Given the description of an element on the screen output the (x, y) to click on. 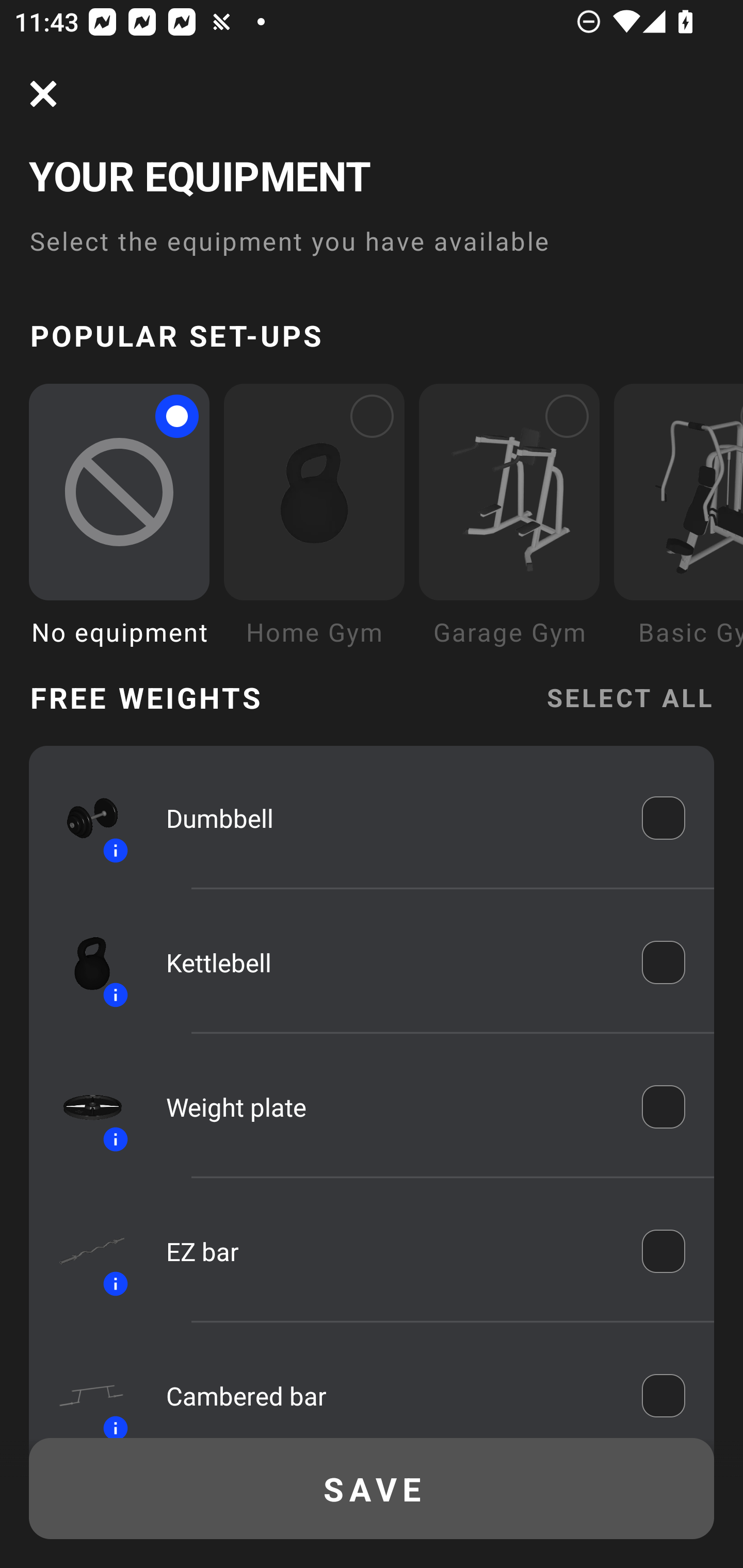
Navigation icon (43, 93)
SELECT ALL (629, 696)
Equipment icon Information icon (82, 817)
Dumbbell (389, 817)
Equipment icon Information icon (82, 961)
Kettlebell (389, 961)
Equipment icon Information icon (82, 1106)
Weight plate (389, 1106)
Equipment icon Information icon (82, 1251)
EZ bar (389, 1251)
Equipment icon Information icon (82, 1389)
Cambered bar (389, 1394)
SAVE (371, 1488)
